Given the description of an element on the screen output the (x, y) to click on. 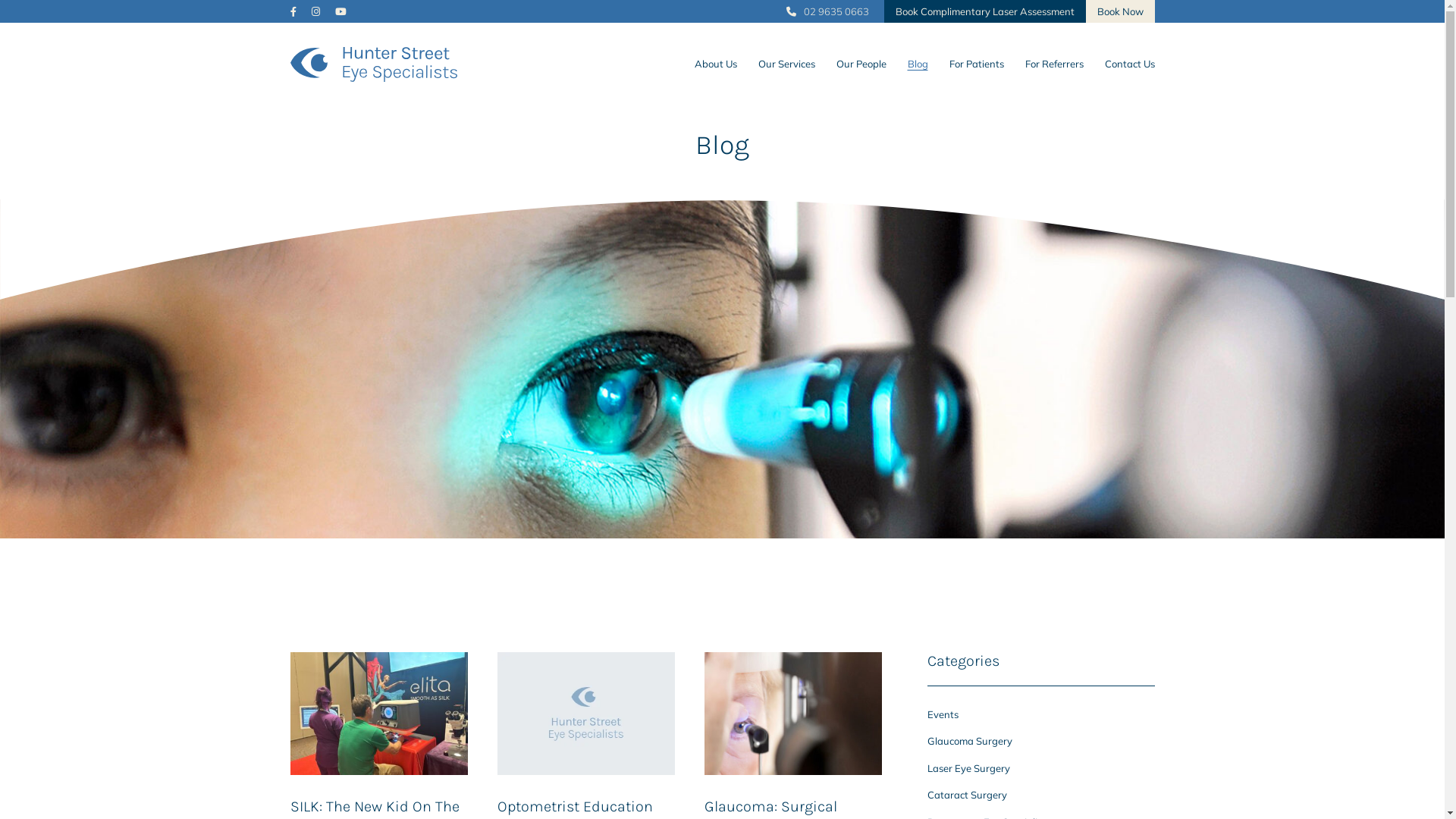
For Patients Element type: text (976, 64)
Our People Element type: text (860, 64)
Laser Eye Surgery Element type: text (967, 768)
About Us Element type: text (715, 64)
Contact Us Element type: text (1129, 64)
Events Element type: text (941, 714)
For Referrers Element type: text (1054, 64)
Cataract Surgery Element type: text (966, 794)
Glaucoma Surgery Element type: text (968, 740)
Blog Element type: text (916, 64)
Book Complimentary Laser Assessment Element type: text (984, 11)
02 9635 0663 Element type: text (826, 10)
Our Services Element type: text (786, 64)
Book Now Element type: text (1119, 11)
